Given the description of an element on the screen output the (x, y) to click on. 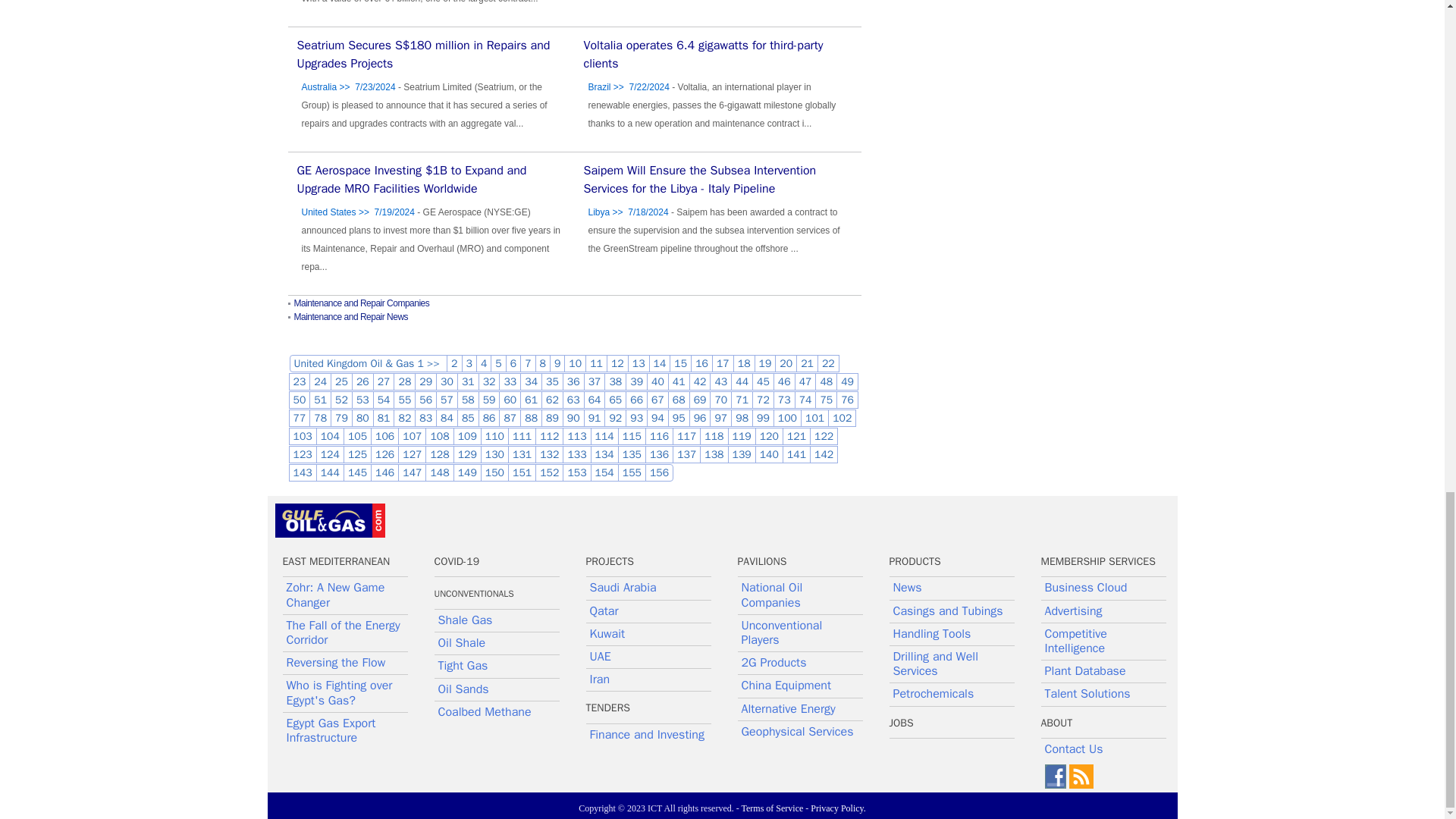
Voltalia operates 6.4 gigawatts for third-party clients (703, 54)
Maintenance and Repair News (351, 317)
Maintenance and Repair Companies (361, 303)
